Given the description of an element on the screen output the (x, y) to click on. 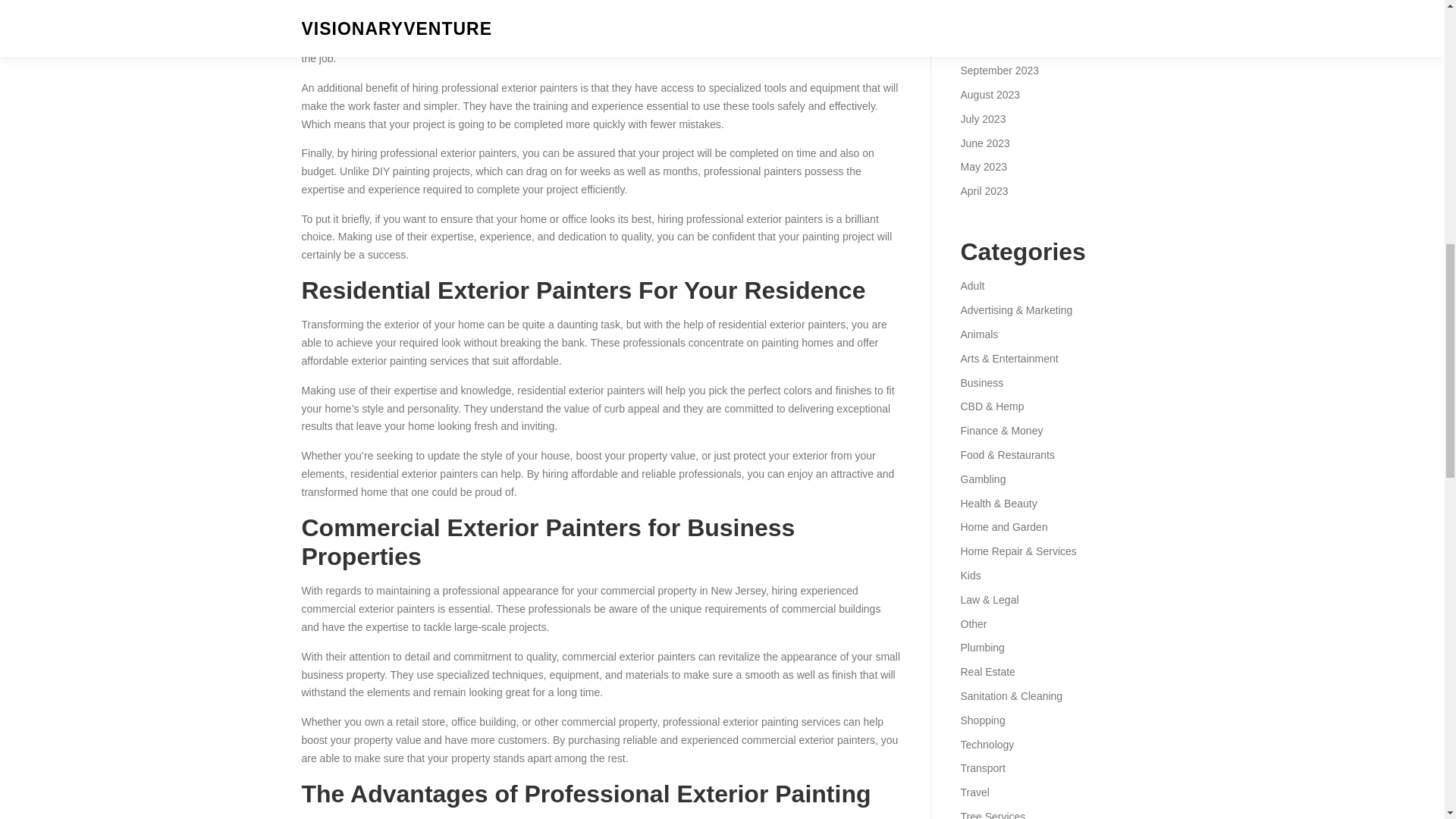
June 2023 (984, 143)
Animals (978, 334)
May 2023 (982, 166)
December 2023 (997, 2)
April 2023 (983, 191)
October 2023 (992, 46)
Adult (971, 285)
November 2023 (997, 22)
July 2023 (982, 119)
September 2023 (999, 70)
